Given the description of an element on the screen output the (x, y) to click on. 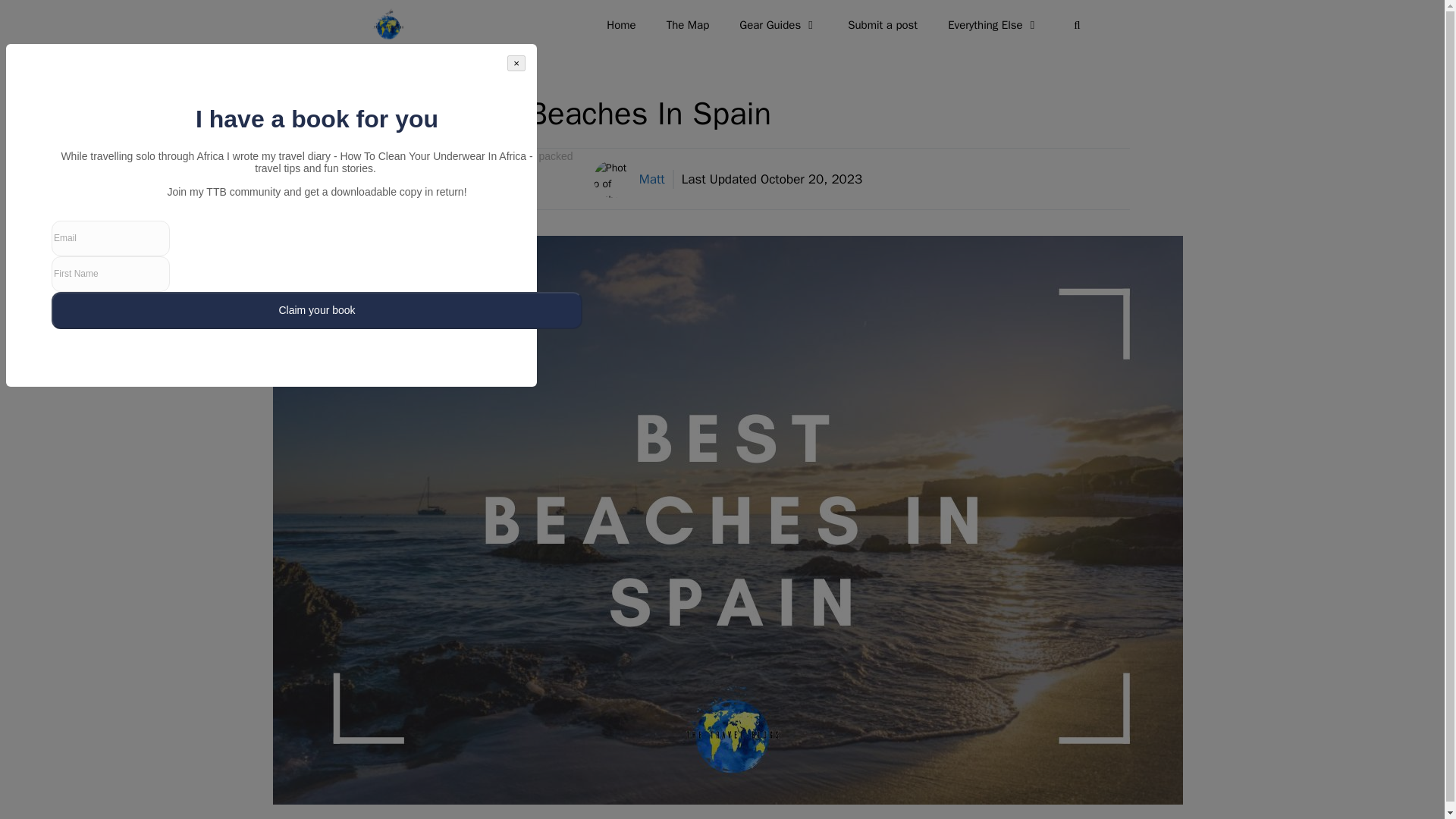
Submit a post (882, 23)
The Travel Blogs (392, 24)
Everything Else (993, 23)
The Travel Blogs (388, 24)
The Map (687, 23)
Home (620, 23)
Gear Guides (777, 23)
Matt (652, 179)
